Given the description of an element on the screen output the (x, y) to click on. 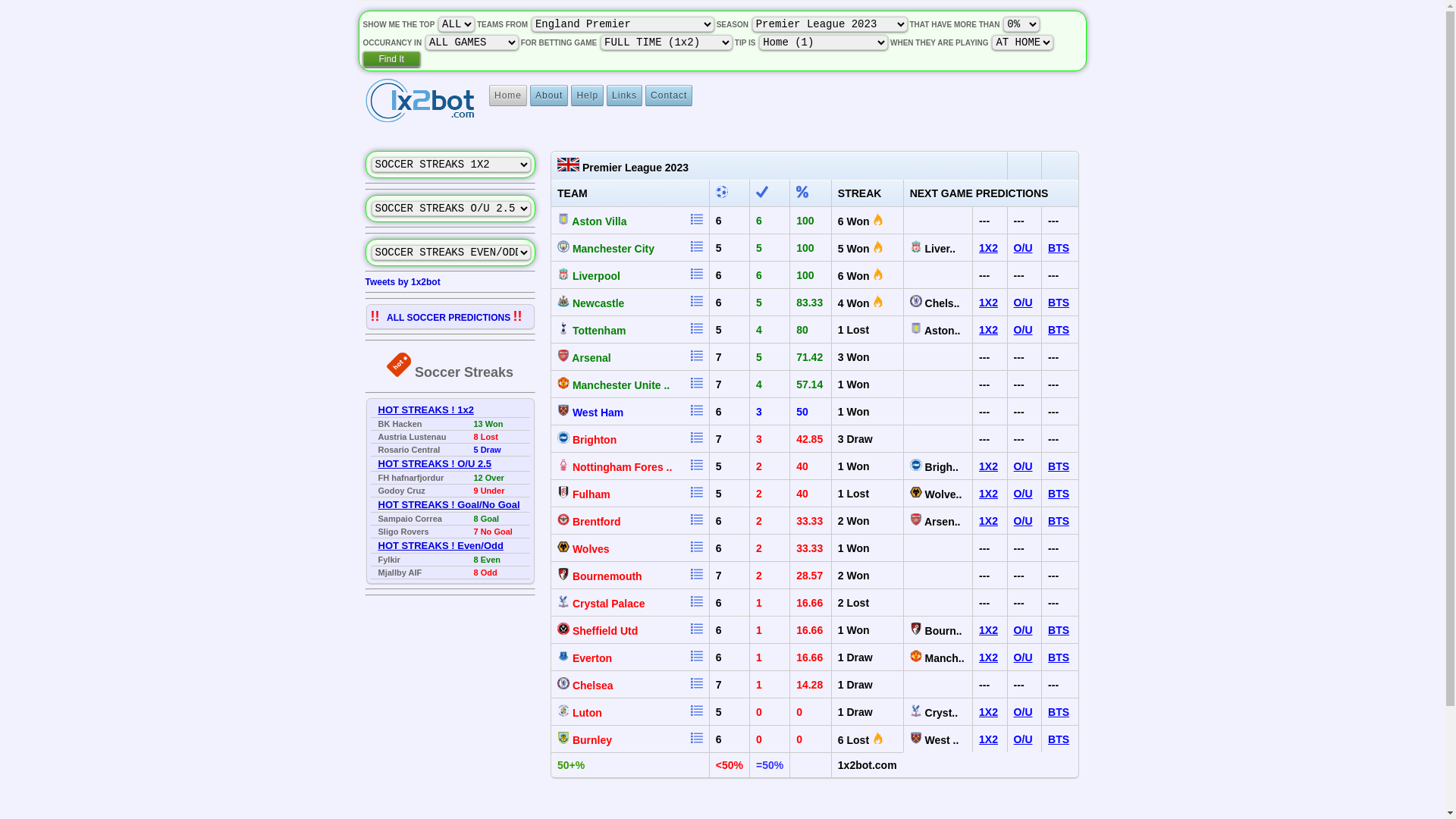
HOT STREAKS ! O/U 2.5 Element type: text (434, 463)
Help Element type: text (587, 95)
Home Element type: text (508, 95)
HOT STREAKS ! Even/Odd Element type: text (439, 545)
HOT STREAKS ! 1x2 Element type: text (425, 409)
Home Element type: text (508, 95)
  ALL SOCCER PREDICTIONS Element type: text (446, 317)
Find It Element type: text (390, 58)
Help Element type: text (587, 95)
Contact Element type: text (668, 95)
Links Element type: text (624, 95)
Contact Element type: text (668, 95)
About Element type: text (548, 95)
About Element type: text (548, 95)
Tweets by 1x2bot Element type: text (402, 281)
Links Element type: text (624, 95)
HOT STREAKS ! Goal/No Goal Element type: text (448, 504)
